Given the description of an element on the screen output the (x, y) to click on. 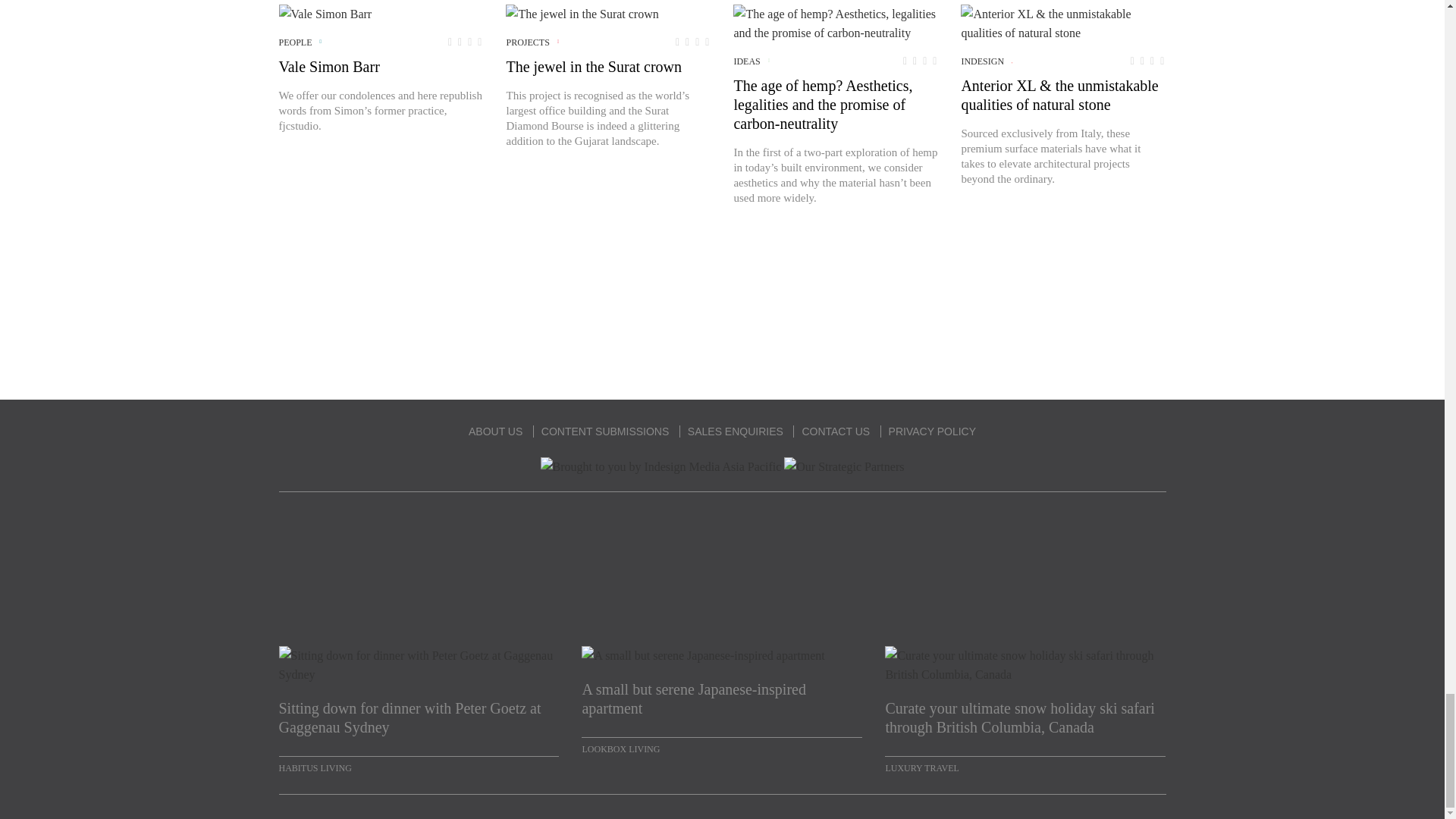
The jewel in the Surat crown (581, 13)
Brought to you by Indesign Media Asia Pacific (660, 466)
Vale Simon Barr (325, 13)
